Given the description of an element on the screen output the (x, y) to click on. 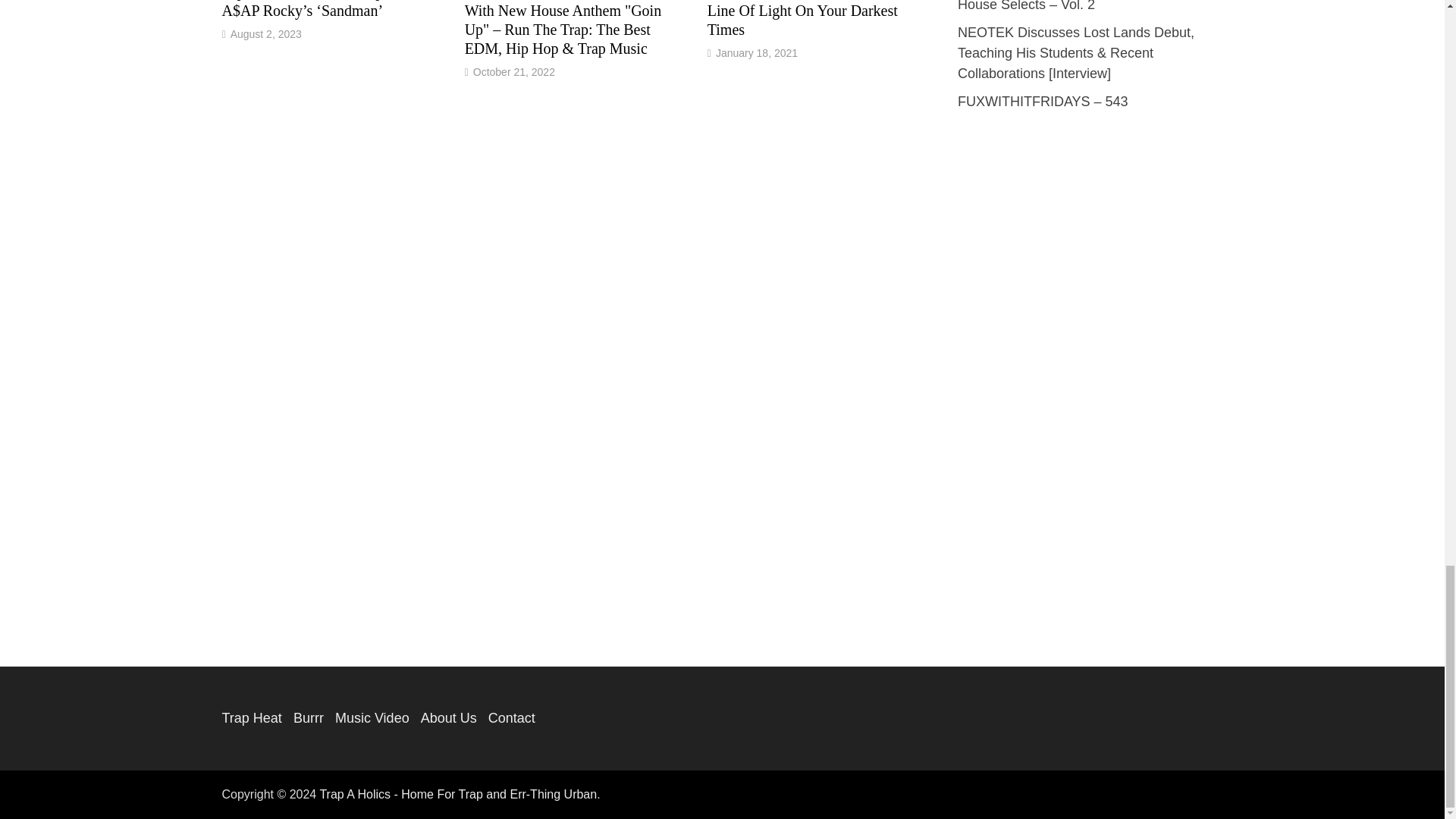
August 2, 2023 (265, 33)
October 21, 2022 (513, 71)
Trap A Holics - Home For Trap and Err-Thing Urban (457, 793)
January 18, 2021 (756, 52)
